Given the description of an element on the screen output the (x, y) to click on. 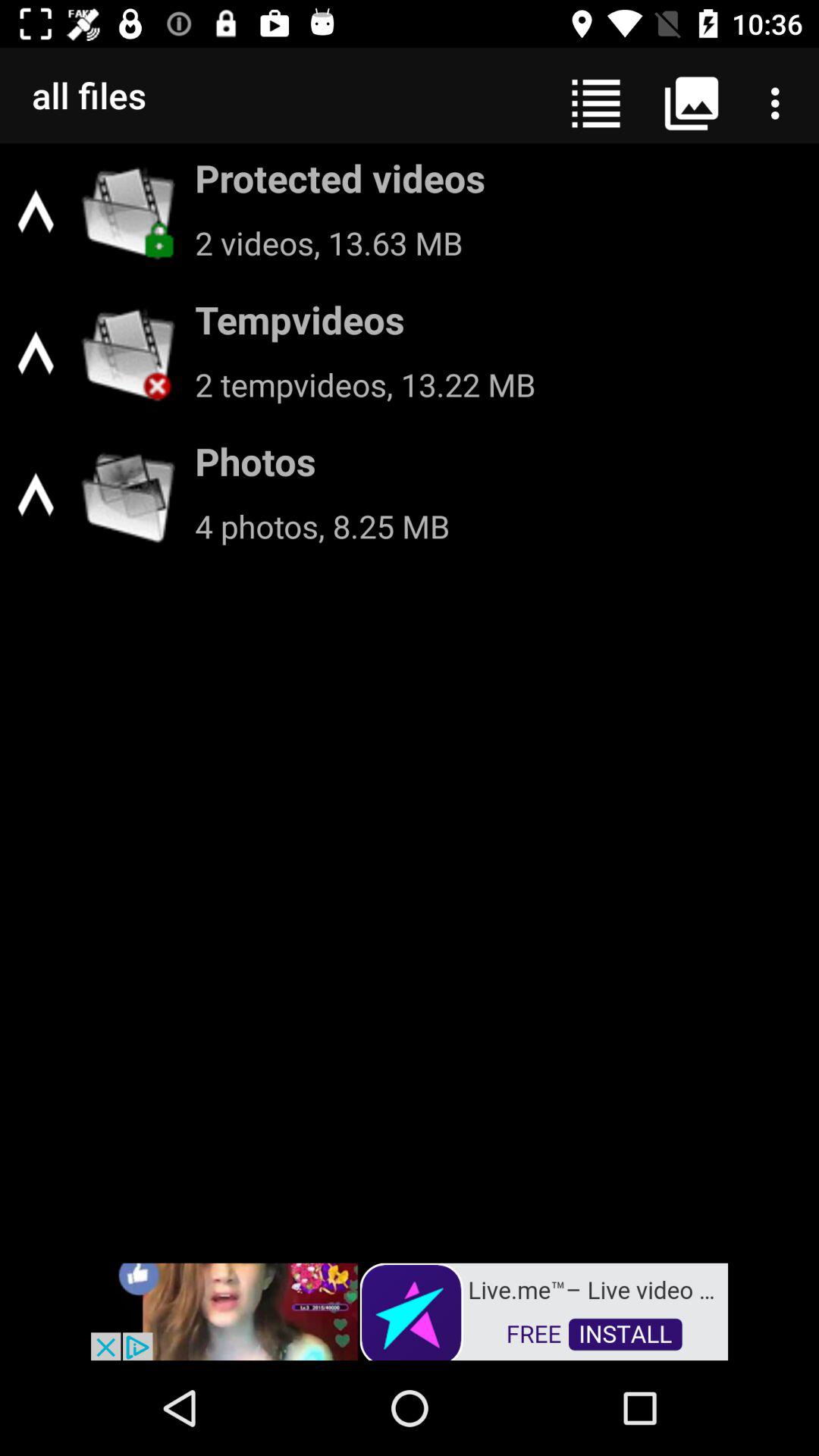
view advertisement (409, 1310)
